Given the description of an element on the screen output the (x, y) to click on. 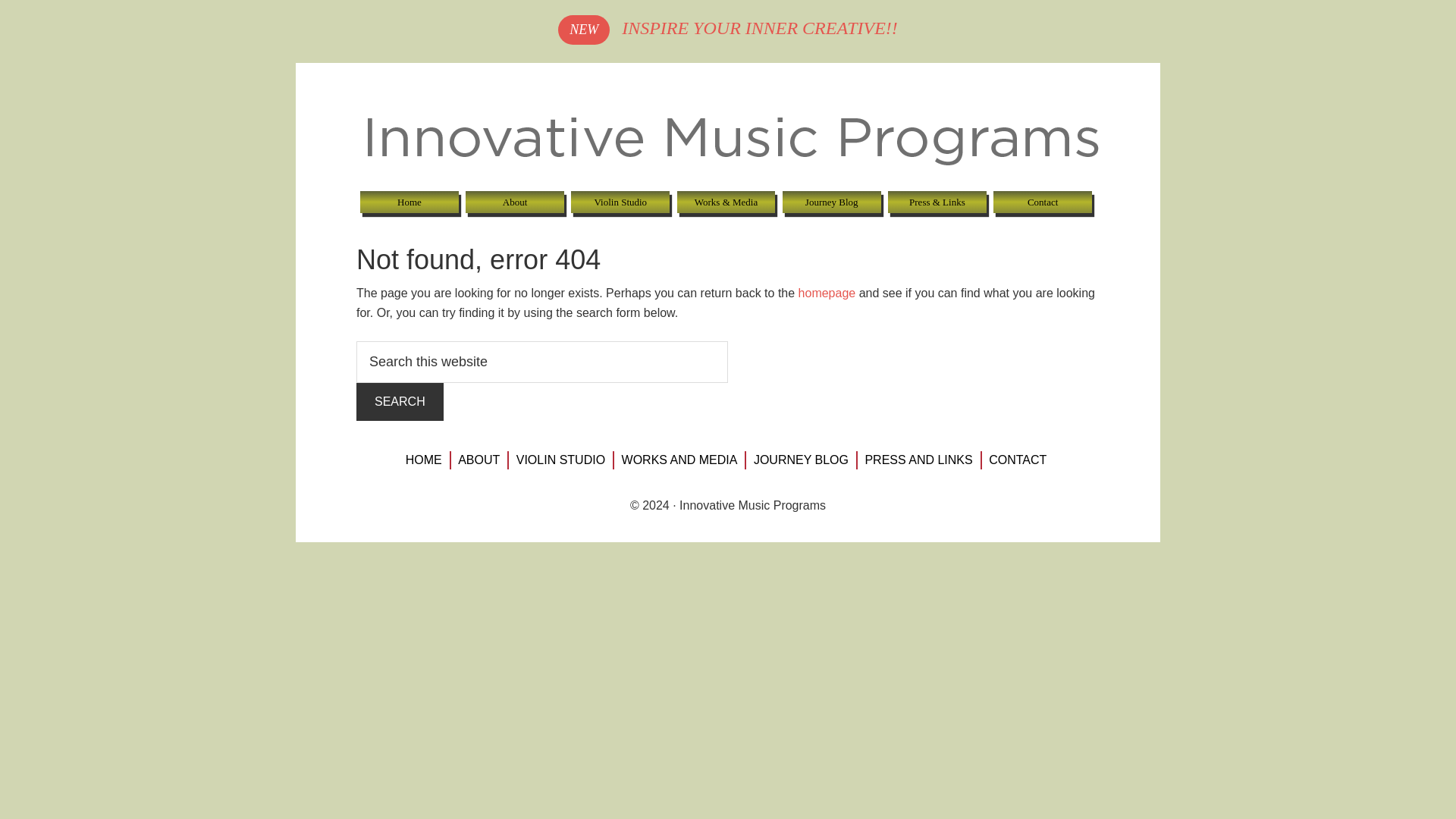
homepage (826, 292)
Search (400, 401)
About (514, 201)
ABOUT (478, 460)
NEW (583, 29)
Home (408, 201)
JOURNEY BLOG (800, 460)
Search (400, 401)
Search (400, 401)
Violin Studio (619, 201)
WORKS AND MEDIA (679, 460)
VIOLIN STUDIO (560, 460)
HOME (423, 460)
NEW (583, 30)
